Given the description of an element on the screen output the (x, y) to click on. 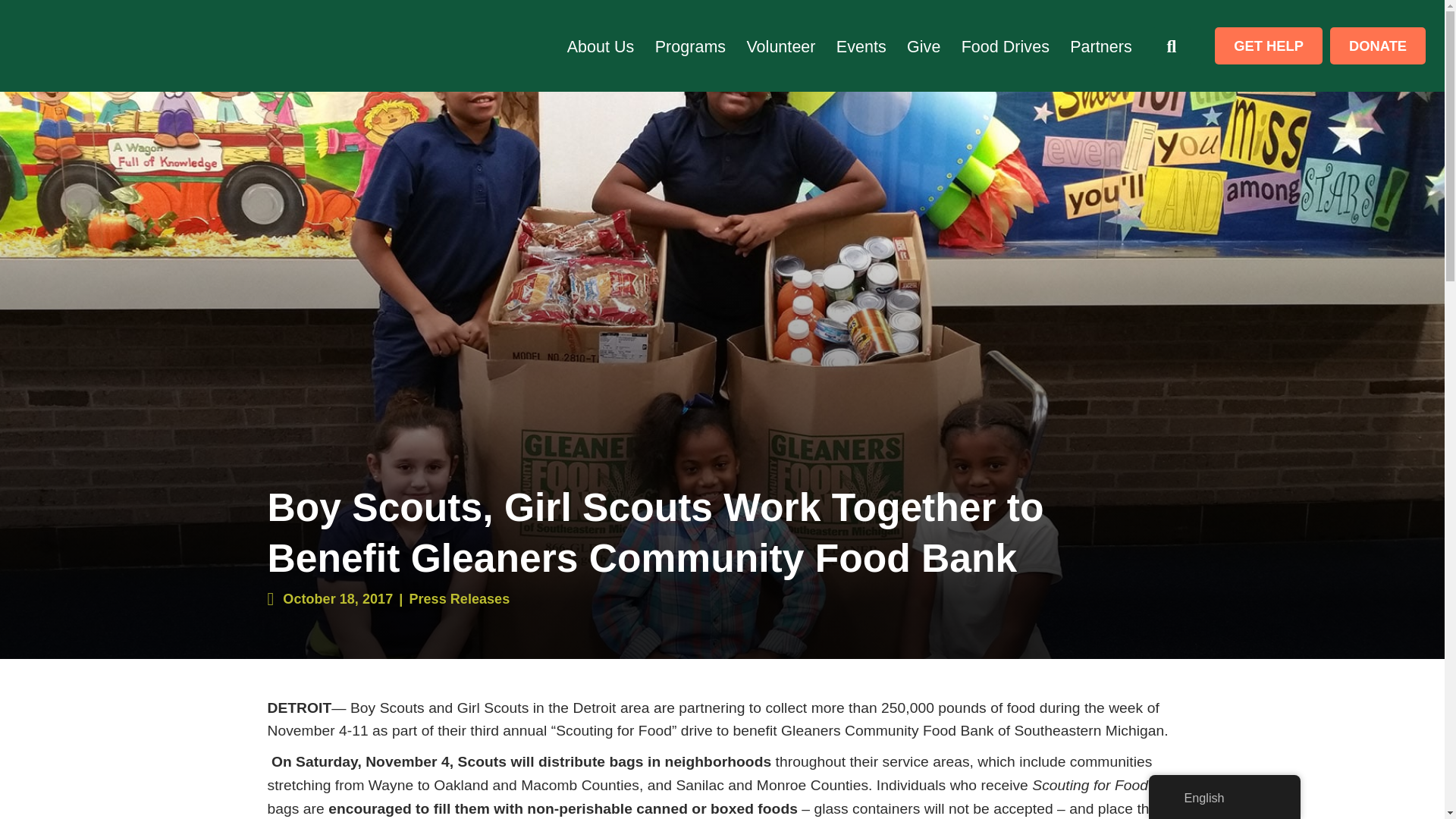
Food Drives (1004, 46)
GET HELP (1268, 45)
Events (860, 46)
Give (923, 46)
Partners (1101, 46)
DONATE (1377, 45)
Volunteer (780, 46)
Programs (690, 46)
About Us (600, 46)
GCFB Logo White Fa Seed (119, 45)
